Given the description of an element on the screen output the (x, y) to click on. 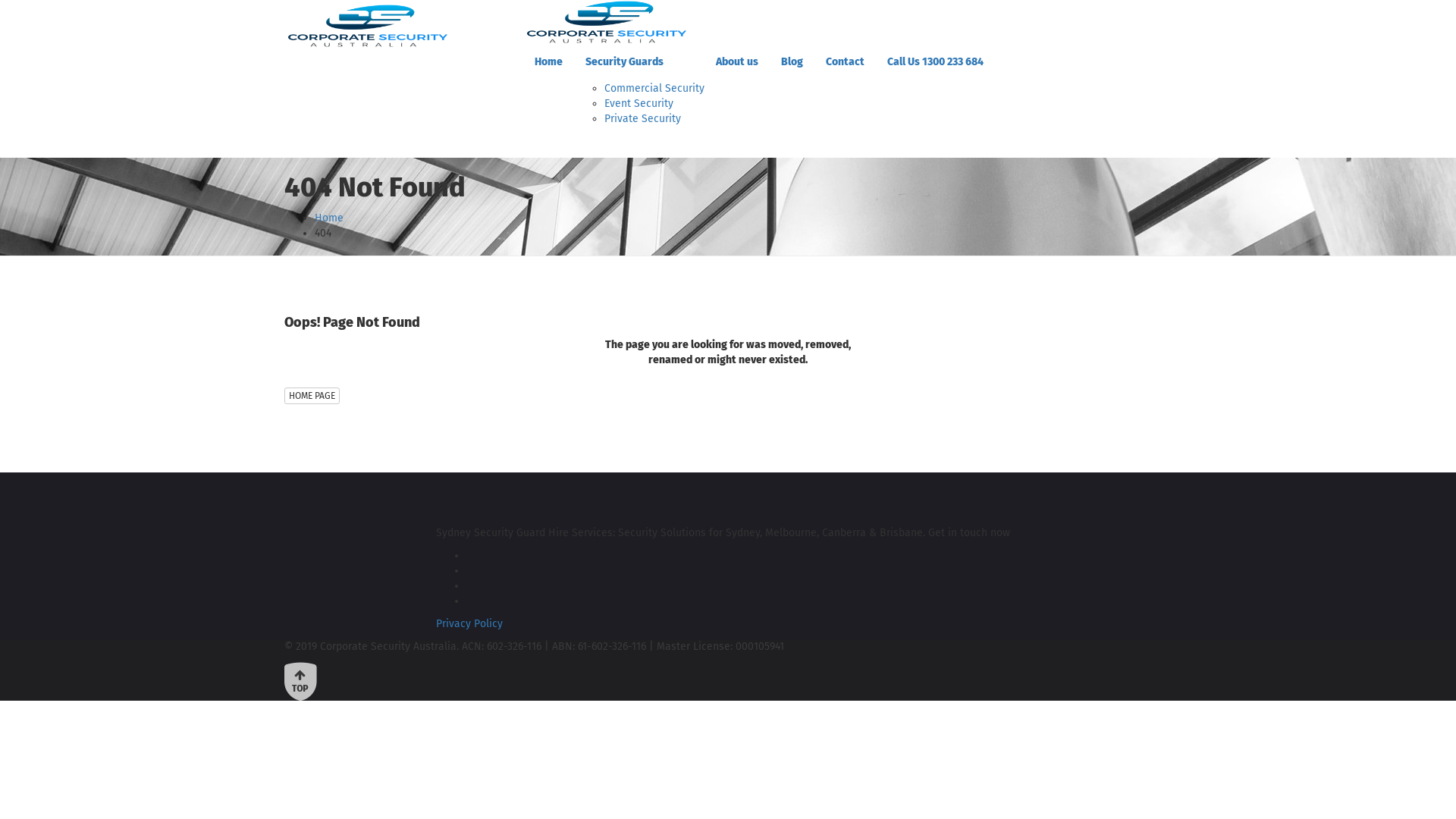
Private Security Element type: text (642, 118)
Commercial Security Element type: text (654, 87)
Home Element type: text (548, 62)
Privacy Policy Element type: text (469, 623)
Contact Element type: text (844, 62)
About us Element type: text (736, 62)
Home Element type: text (328, 217)
Event Security Element type: text (638, 103)
HOME PAGE Element type: text (311, 395)
Call Us 1300 233 684 Element type: text (934, 62)
Security Guards Element type: text (639, 62)
Blog Element type: text (791, 62)
